Given the description of an element on the screen output the (x, y) to click on. 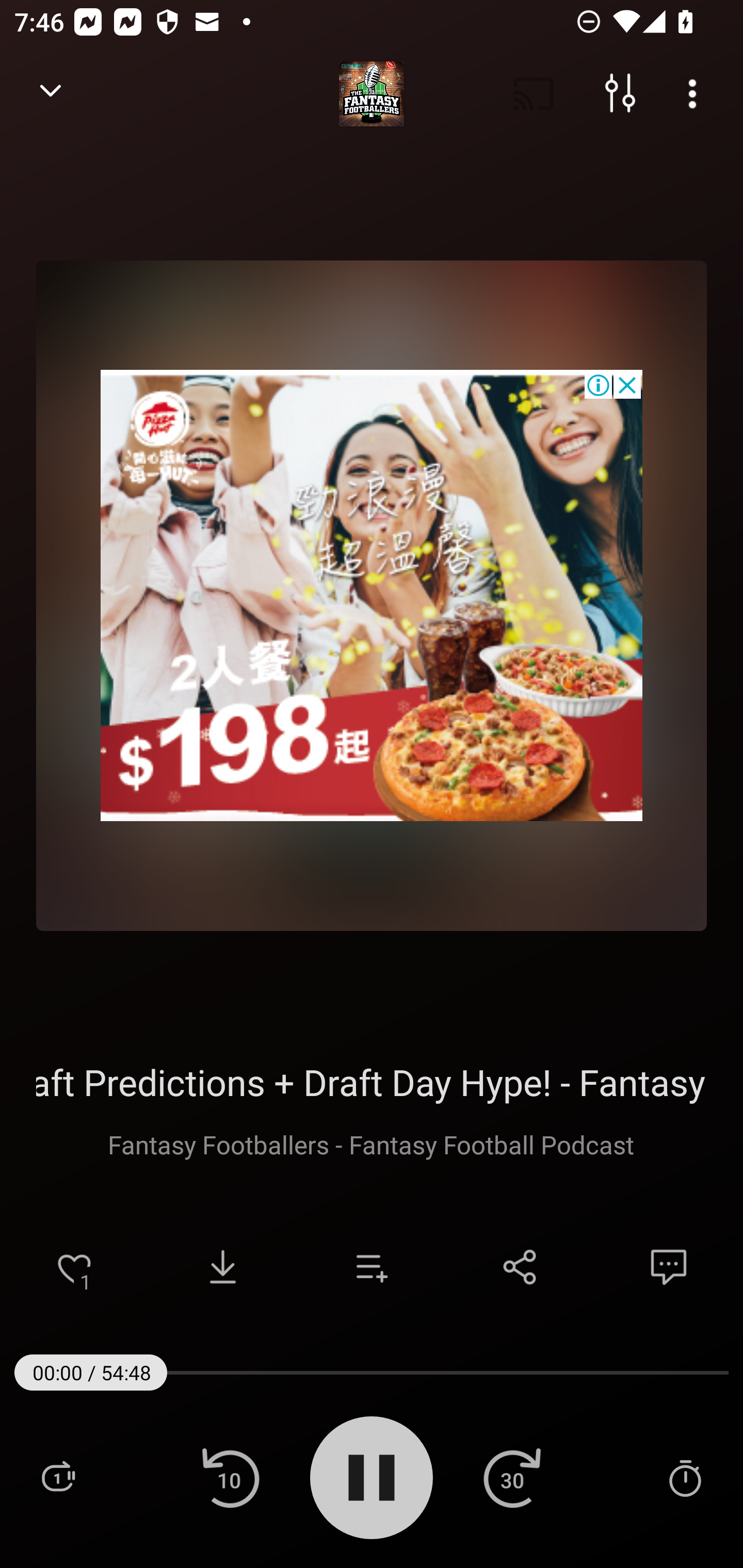
 Back (50, 94)
Fantasy Footballers - Fantasy Football Podcast (371, 1144)
Comments (668, 1266)
Add to Favorites (73, 1266)
Add to playlist (371, 1266)
Share (519, 1266)
 Playlist (57, 1477)
Sleep Timer  (684, 1477)
